Given the description of an element on the screen output the (x, y) to click on. 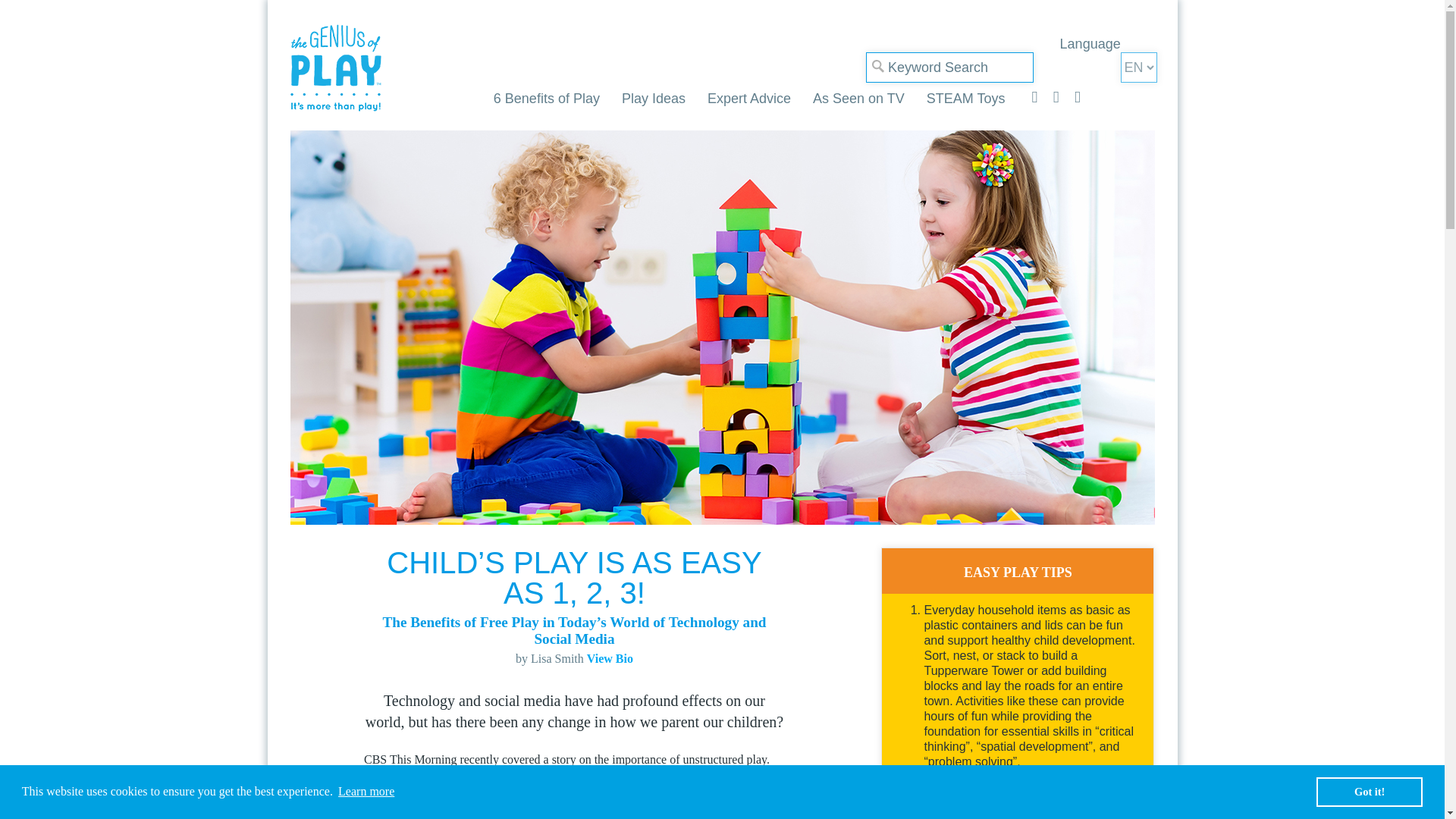
Keyword Search (949, 67)
Keyword Search (949, 67)
Play Ideas (653, 98)
As Seen on TV (858, 98)
View Bio (609, 658)
Learn more (366, 791)
Expert Advice (748, 98)
Got it! (1369, 791)
Home (334, 67)
6 Benefits of Play (546, 98)
